Given the description of an element on the screen output the (x, y) to click on. 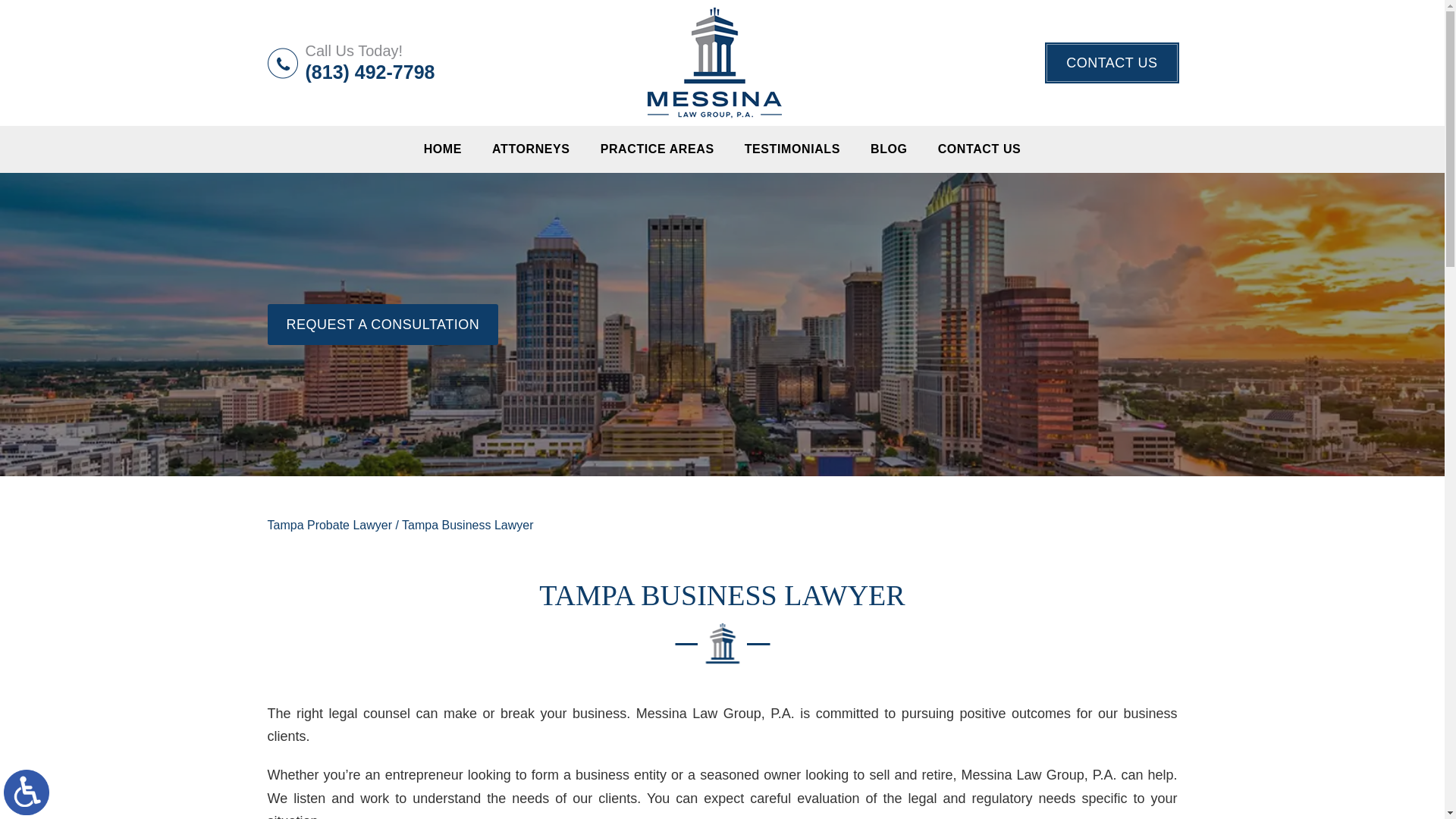
HOME (443, 149)
Switch to ADA Accessible Theme (26, 791)
CONTACT US (1111, 62)
PRACTICE AREAS (657, 149)
ATTORNEYS (531, 149)
